Given the description of an element on the screen output the (x, y) to click on. 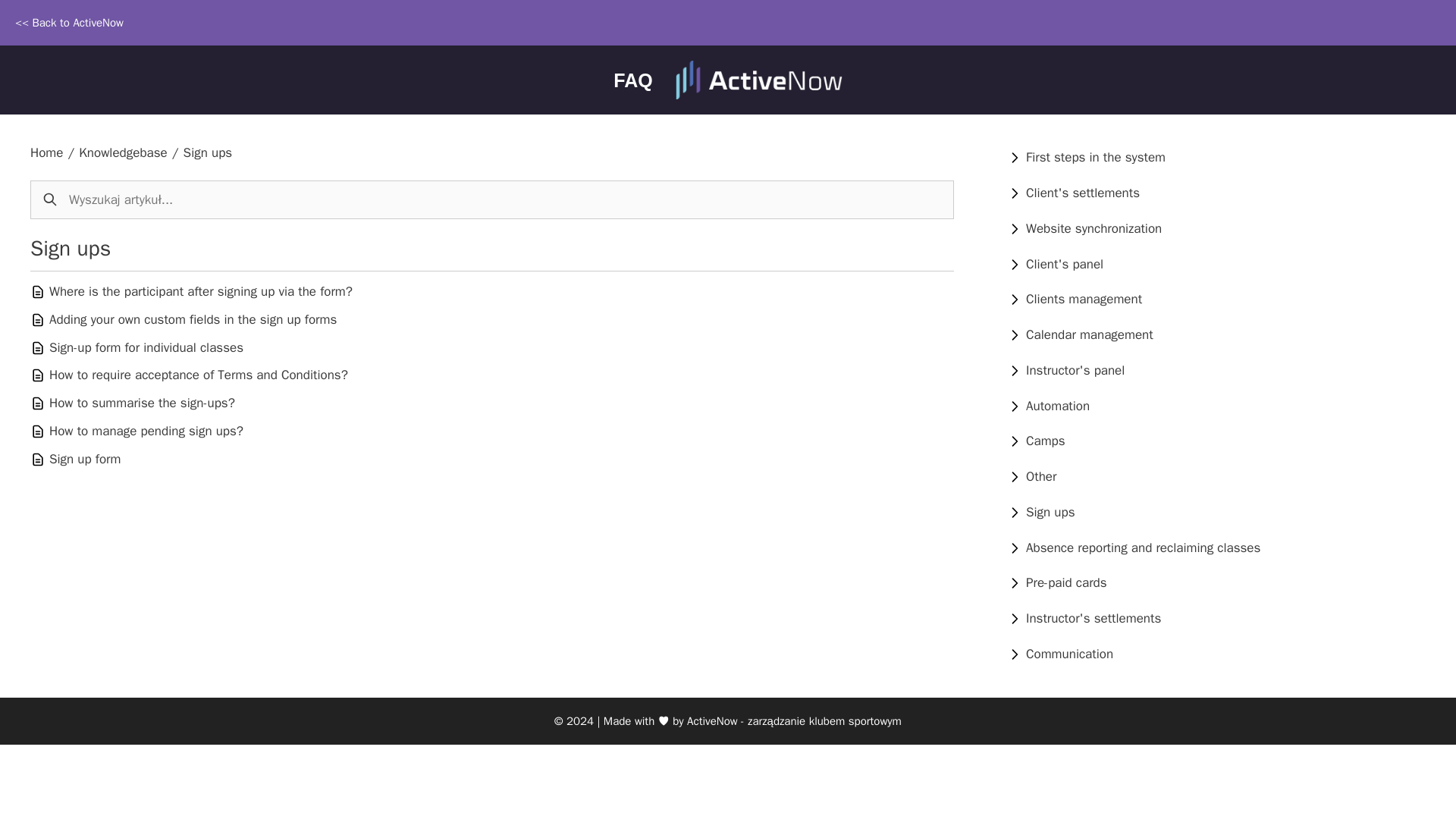
Automation (1057, 406)
Absence reporting and reclaiming classes (1143, 547)
How to summarise the sign-ups? (141, 402)
Client's panel (1064, 263)
Home (46, 152)
Website synchronization (1093, 228)
Adding your own custom fields in the sign up forms (192, 319)
View (1083, 299)
How to manage pending sign ups? (146, 430)
View (1096, 157)
